Given the description of an element on the screen output the (x, y) to click on. 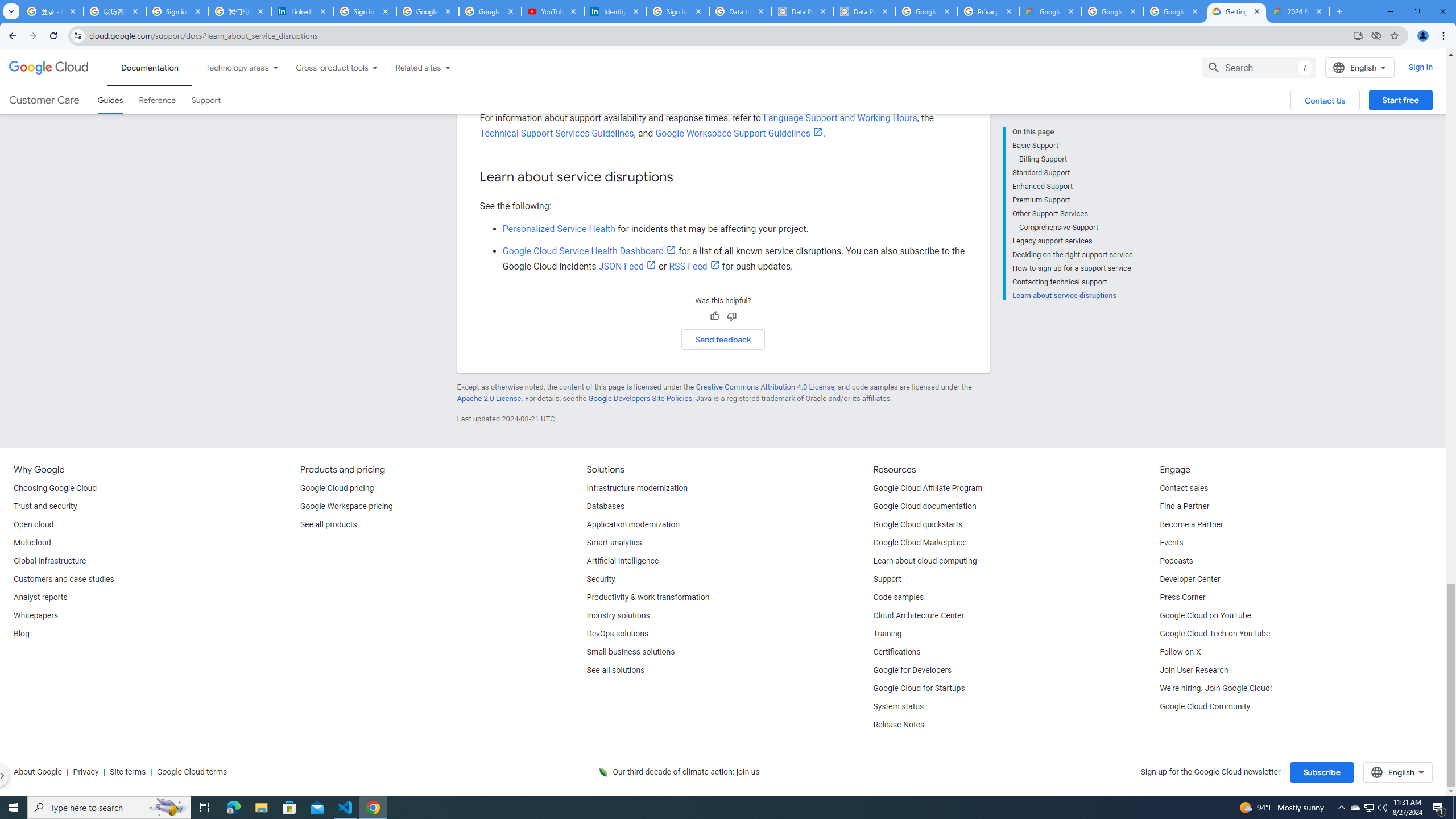
Dropdown menu for Cross-product tools (374, 67)
Dropdown menu for Technology areas (274, 67)
Billing Support (1075, 159)
Multicloud (31, 542)
How to sign up for a support service (1071, 268)
Send feedback (723, 339)
Artificial Intelligence (622, 561)
Contact Us (1324, 100)
Google Cloud for Startups (919, 688)
Developer Center (1189, 579)
We're hiring. Join Google Cloud! (1215, 688)
